Given the description of an element on the screen output the (x, y) to click on. 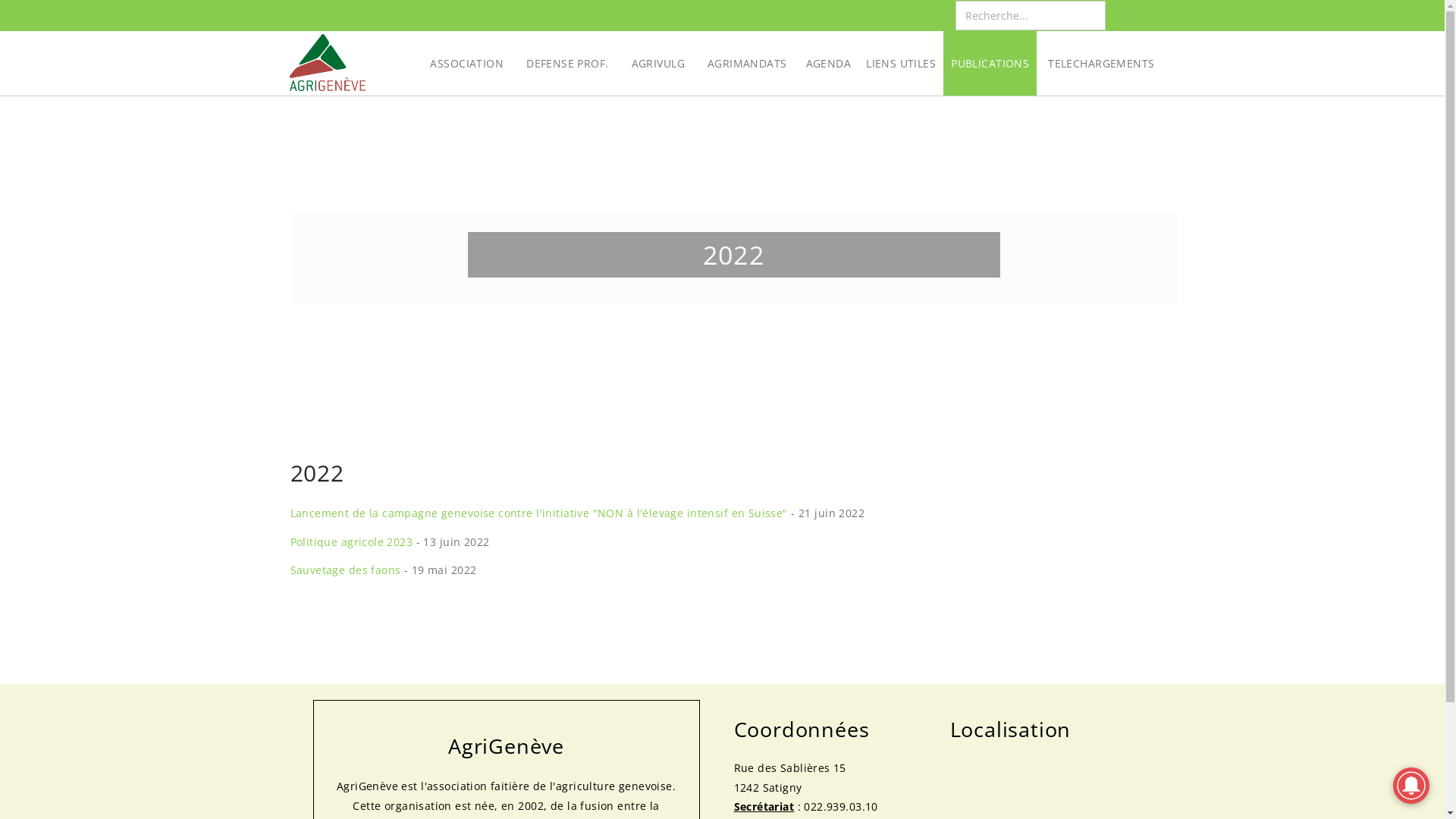
Politique agricole 2023 Element type: text (350, 541)
AGENDA Element type: text (828, 63)
PUBLICATIONS Element type: text (989, 63)
Sauvetage des faons Element type: text (344, 569)
Agrigeneve Element type: hover (327, 68)
LIENS UTILES Element type: text (900, 63)
